Given the description of an element on the screen output the (x, y) to click on. 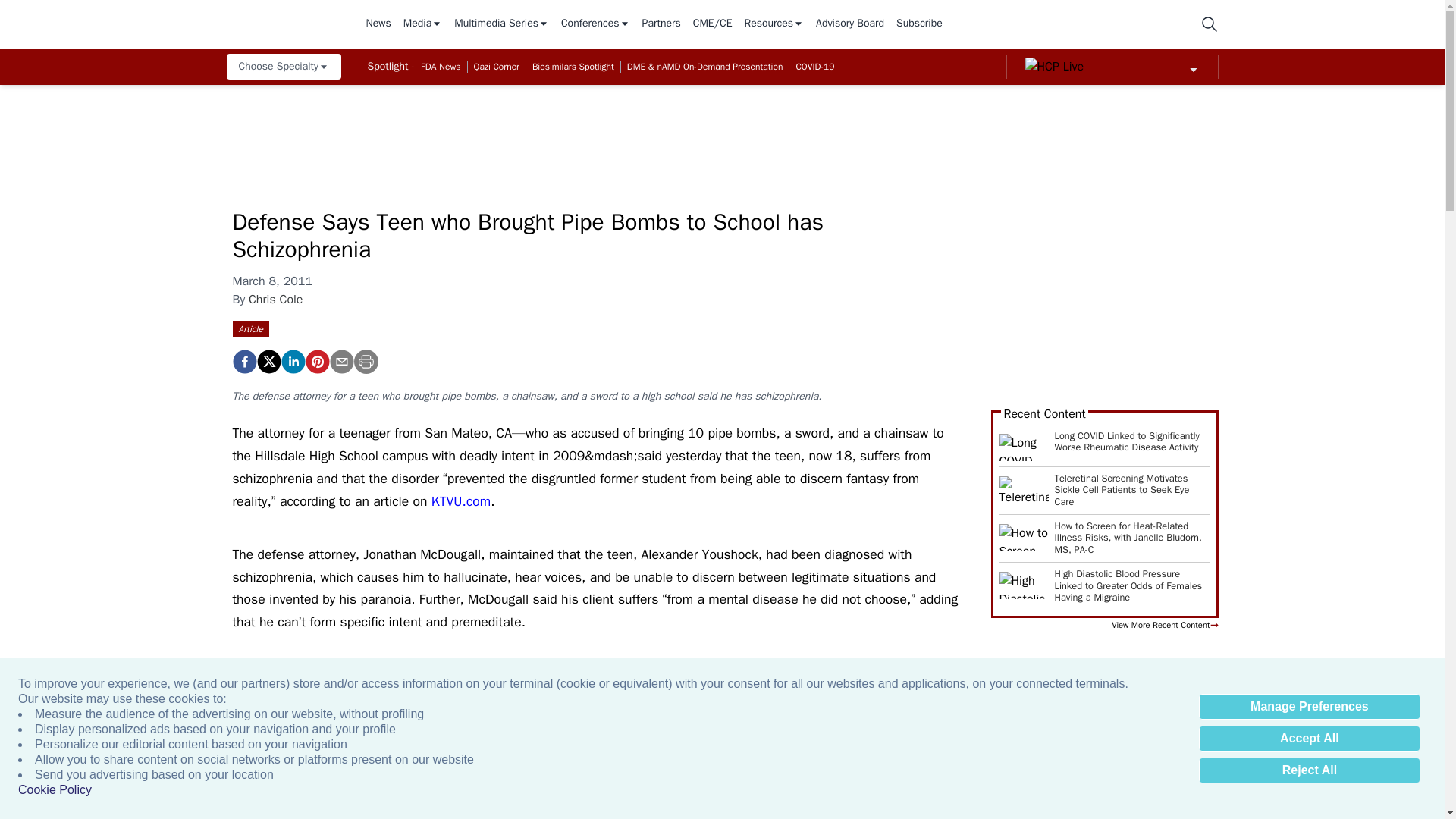
News (377, 23)
Accept All (1309, 738)
Manage Preferences (1309, 706)
Resources (773, 23)
Multimedia Series (501, 23)
Reject All (1309, 769)
Media (422, 23)
Cookie Policy (54, 789)
Advisory Board (849, 23)
Conferences (595, 23)
Partners (661, 23)
